Given the description of an element on the screen output the (x, y) to click on. 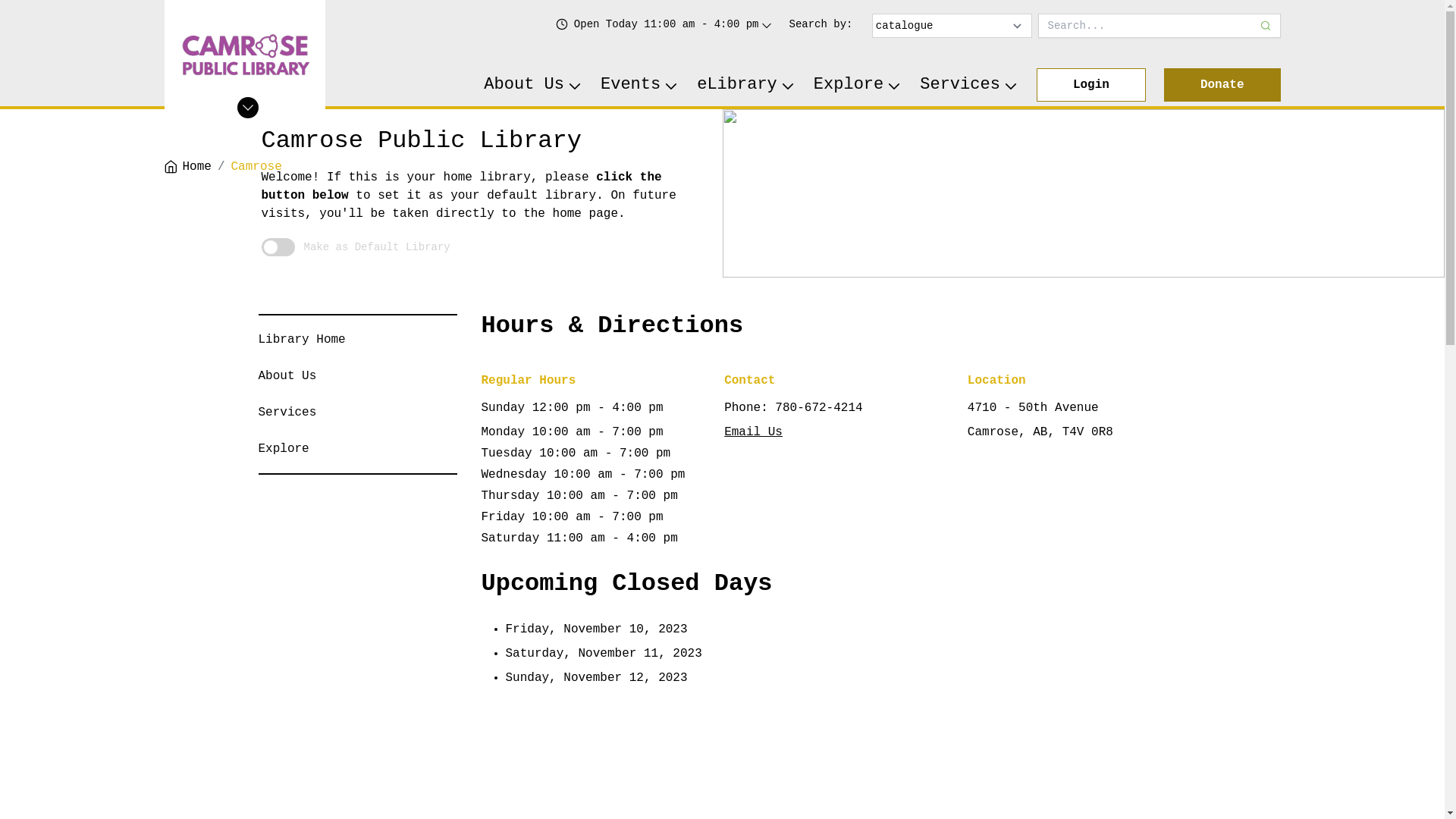
Explore Element type: text (282, 448)
Donate Element type: text (1222, 84)
Camrose Element type: text (256, 166)
Events Element type: text (639, 84)
Explore Element type: text (857, 84)
Email Us Element type: text (753, 432)
Login Element type: text (1090, 84)
Library Home Element type: text (301, 339)
Services Element type: text (968, 84)
About Us Element type: text (532, 84)
About Us Element type: text (286, 375)
Home Element type: text (186, 166)
eLibrary Element type: text (745, 84)
Services Element type: text (286, 412)
